Given the description of an element on the screen output the (x, y) to click on. 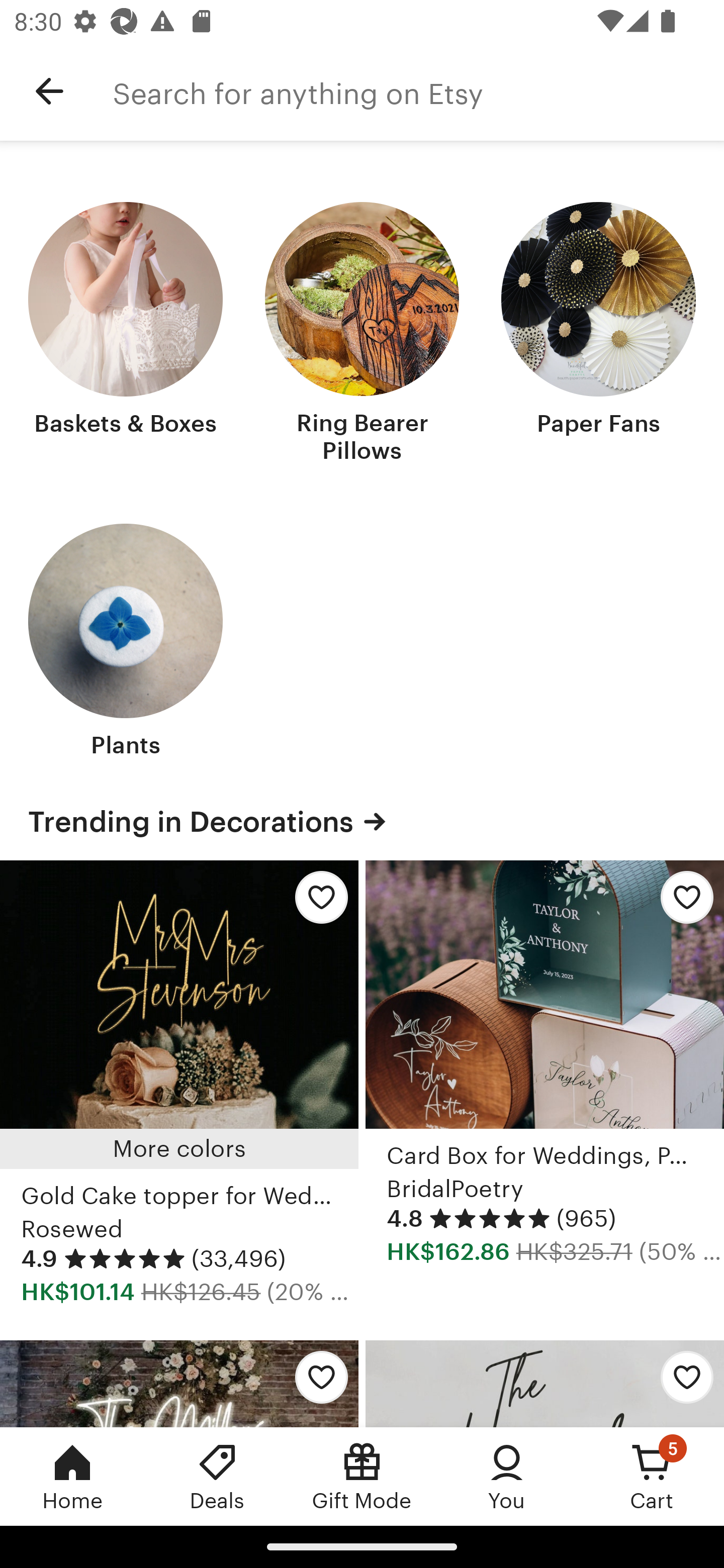
Navigate up (49, 91)
Search for anything on Etsy (418, 91)
Baskets & Boxes (125, 334)
Ring Bearer Pillows (361, 334)
Paper Fans (598, 334)
Plants (125, 642)
Trending in Decorations  (361, 821)
Deals (216, 1475)
Gift Mode (361, 1475)
You (506, 1475)
Cart, 5 new notifications Cart (651, 1475)
